Given the description of an element on the screen output the (x, y) to click on. 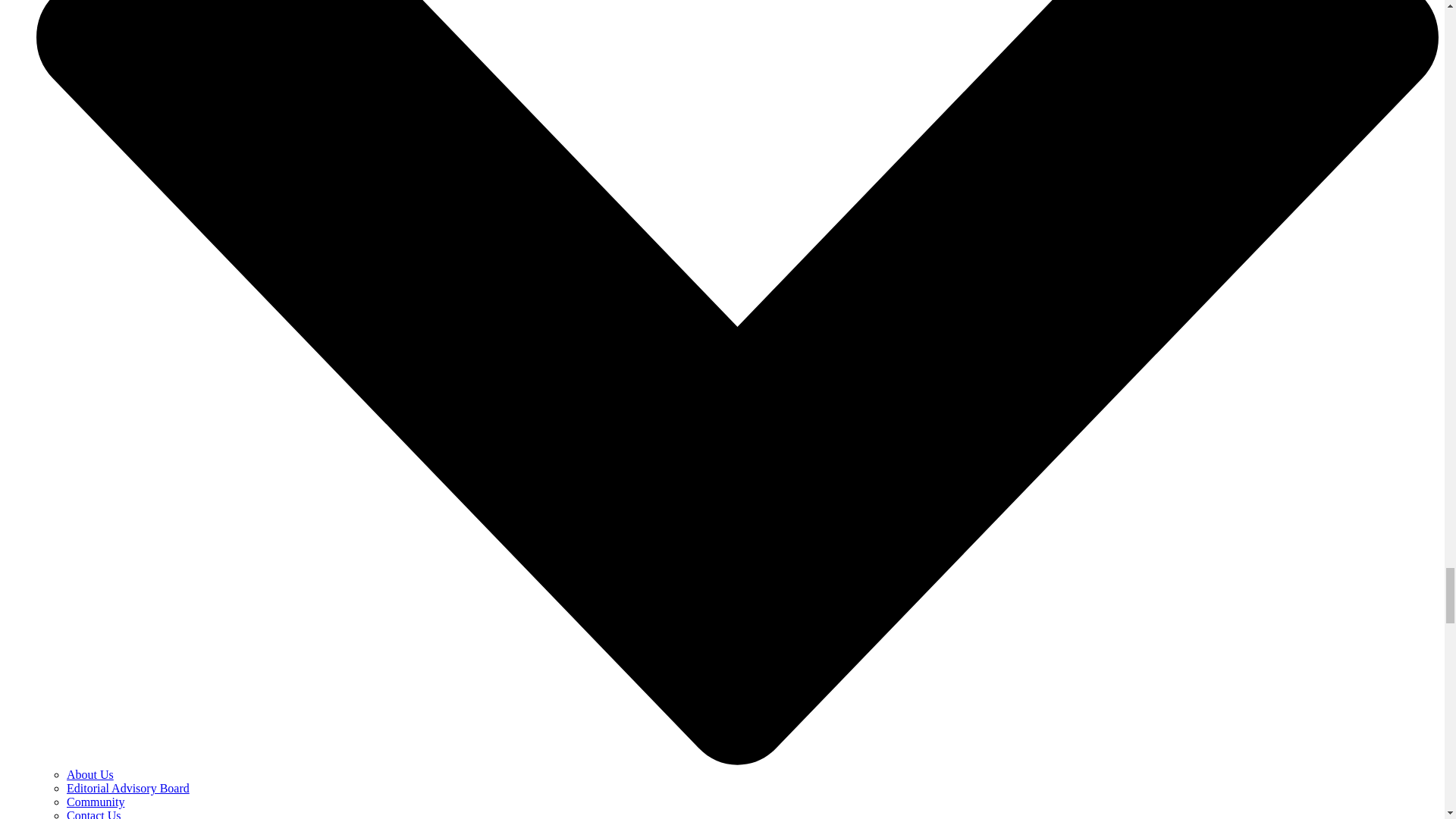
Contact Us (93, 814)
Editorial Advisory Board (127, 788)
About Us (89, 774)
Community (94, 801)
